Given the description of an element on the screen output the (x, y) to click on. 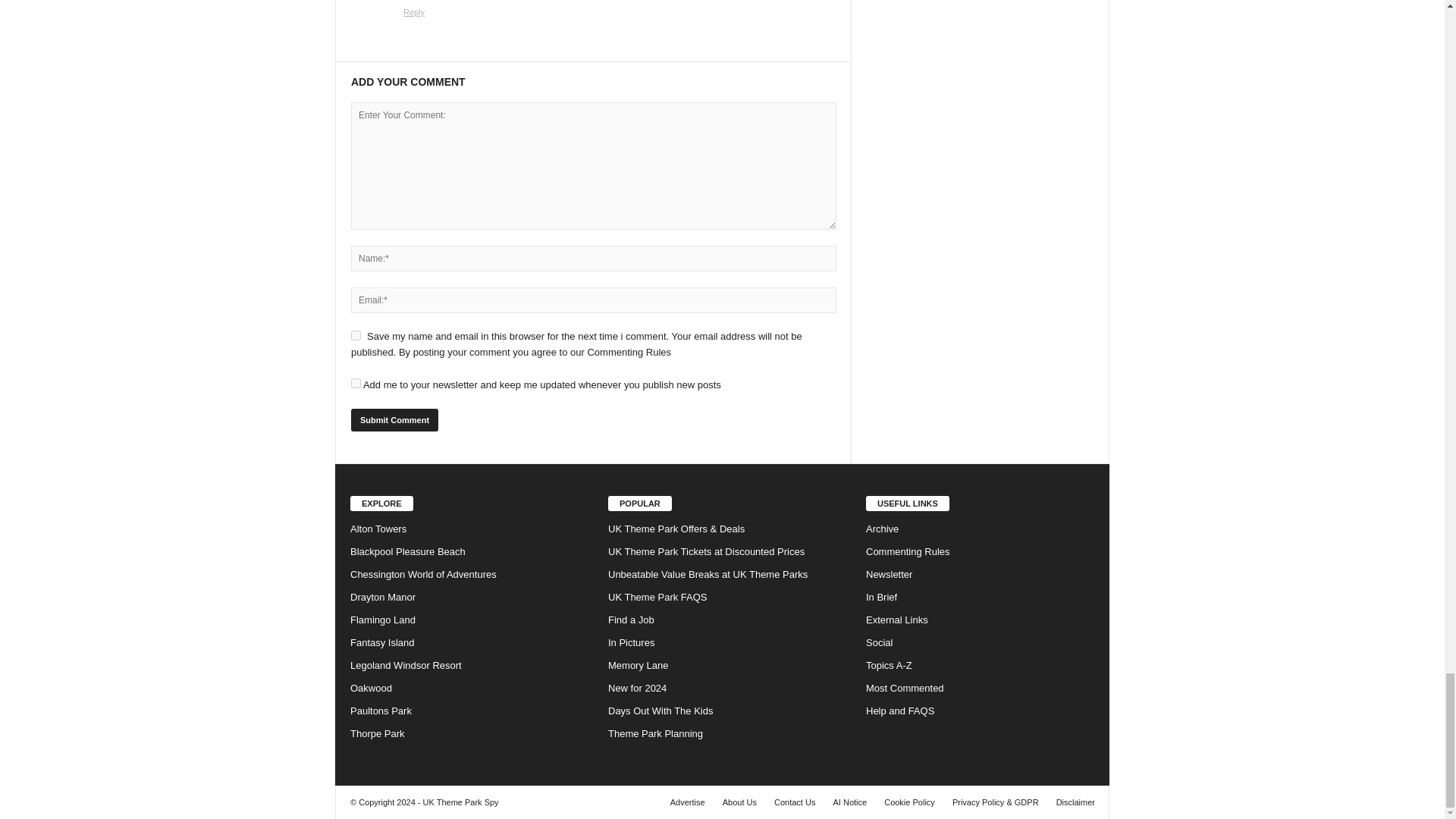
yes (355, 335)
Submit Comment (394, 419)
1 (355, 383)
